Given the description of an element on the screen output the (x, y) to click on. 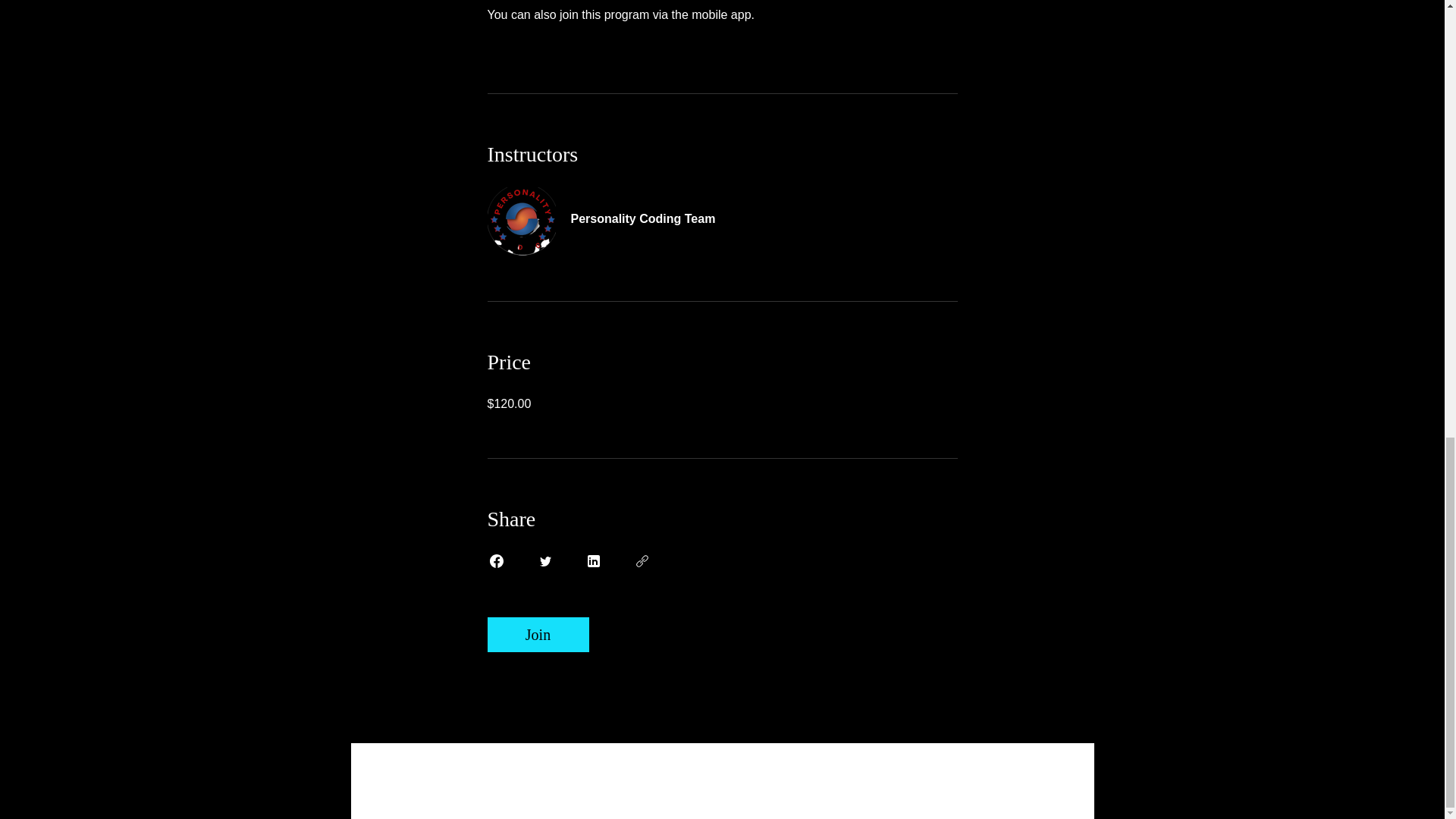
Personality Coding Team (721, 210)
Go to the app (794, 14)
Join (537, 634)
